Given the description of an element on the screen output the (x, y) to click on. 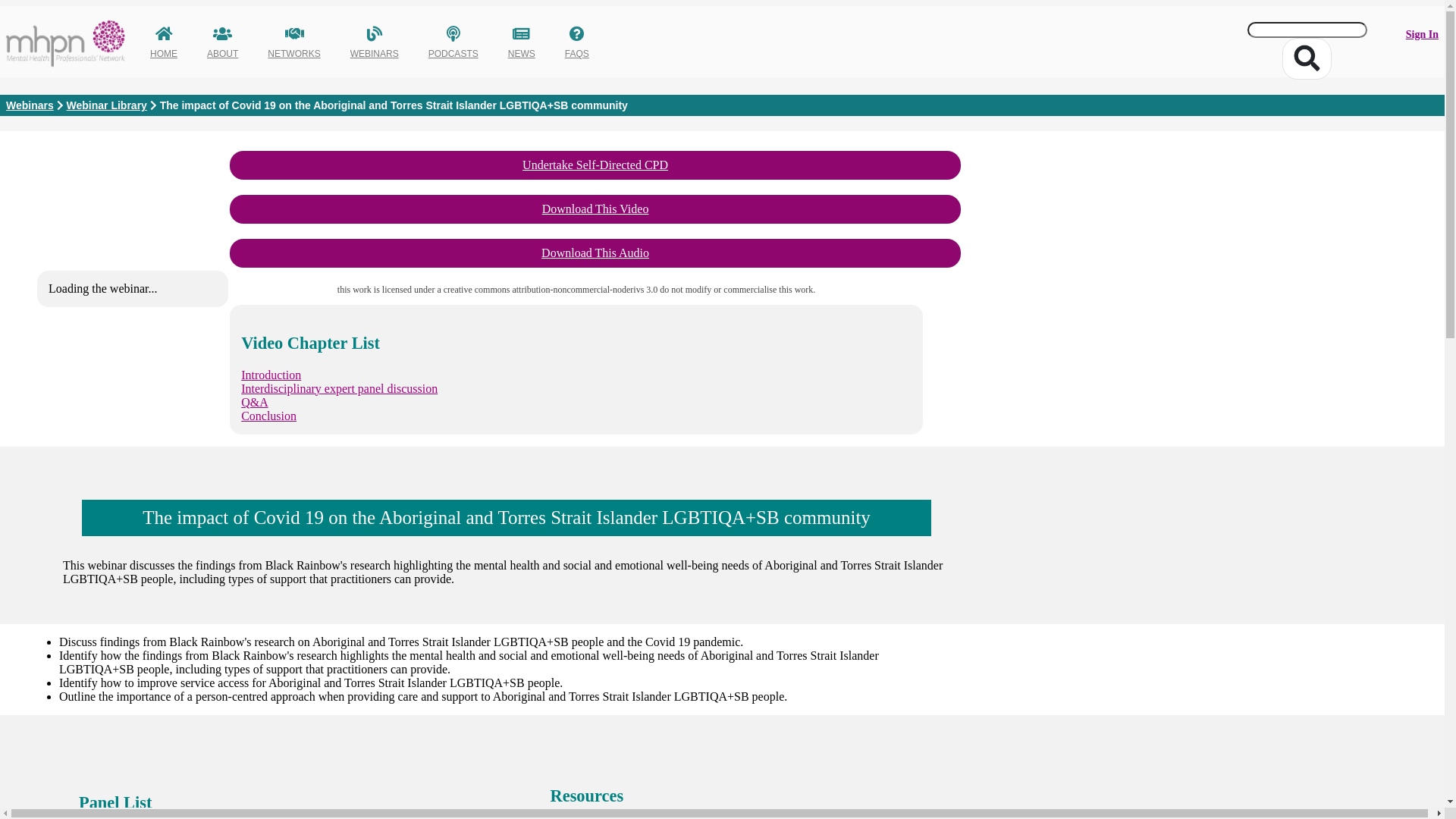
PODCASTS Element type: text (453, 53)
Undertake Self-Directed CPD Element type: text (594, 164)
Webinar Library Element type: text (106, 105)
FAQS Element type: text (576, 53)
Introduction Element type: text (271, 374)
Download This Audio Element type: text (594, 252)
Interdisciplinary expert panel discussion Element type: text (339, 388)
Webinars Element type: text (29, 105)
Sign In Element type: text (1421, 34)
Download This Video Element type: text (594, 208)
HOME Element type: text (163, 53)
NETWORKS Element type: text (293, 53)
Q&A Element type: text (254, 401)
Conclusion Element type: text (268, 415)
WEBINARS Element type: text (374, 53)
NEWS Element type: text (521, 53)
ABOUT Element type: text (222, 53)
